Given the description of an element on the screen output the (x, y) to click on. 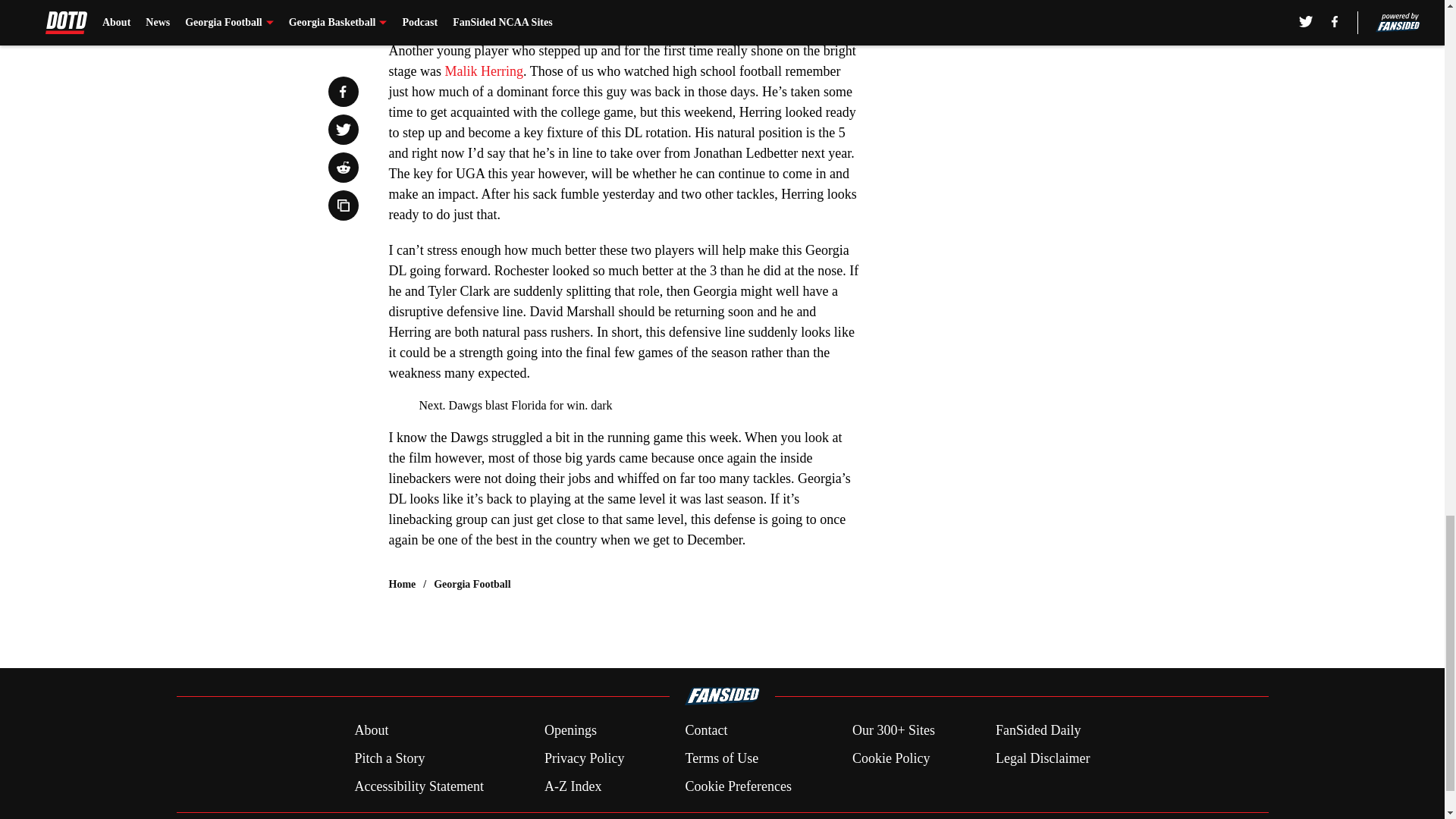
FanSided Daily (1038, 730)
Legal Disclaimer (1042, 758)
About (370, 730)
Accessibility Statement (418, 786)
Georgia Football (472, 584)
Pitch a Story (389, 758)
A-Z Index (572, 786)
Terms of Use (721, 758)
Cookie Policy (890, 758)
Cookie Preferences (737, 786)
